Given the description of an element on the screen output the (x, y) to click on. 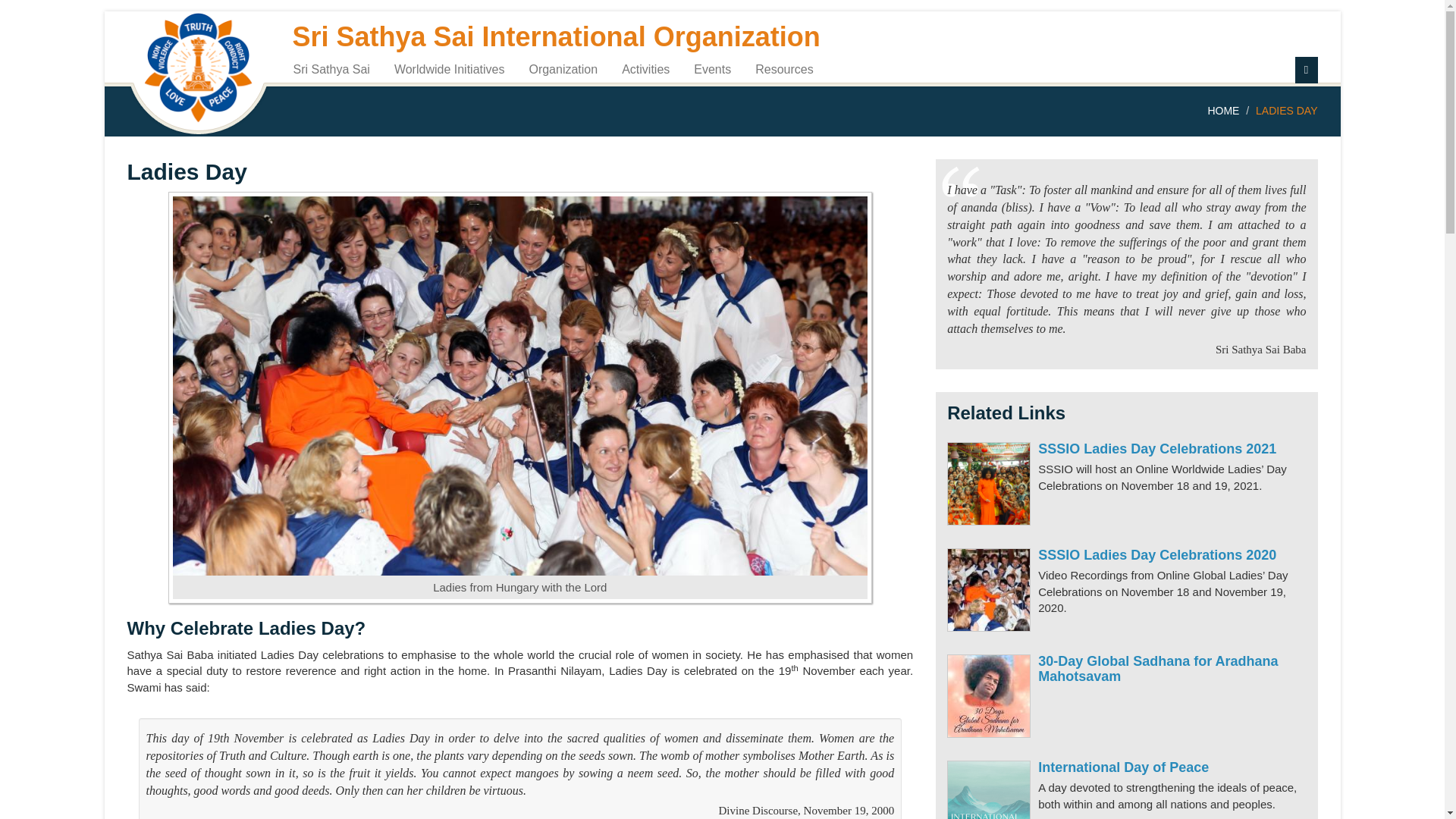
Activities (645, 69)
Sri Sathya Sai (331, 69)
Events (712, 69)
Worldwide Initiatives (449, 69)
Organization (562, 69)
